Given the description of an element on the screen output the (x, y) to click on. 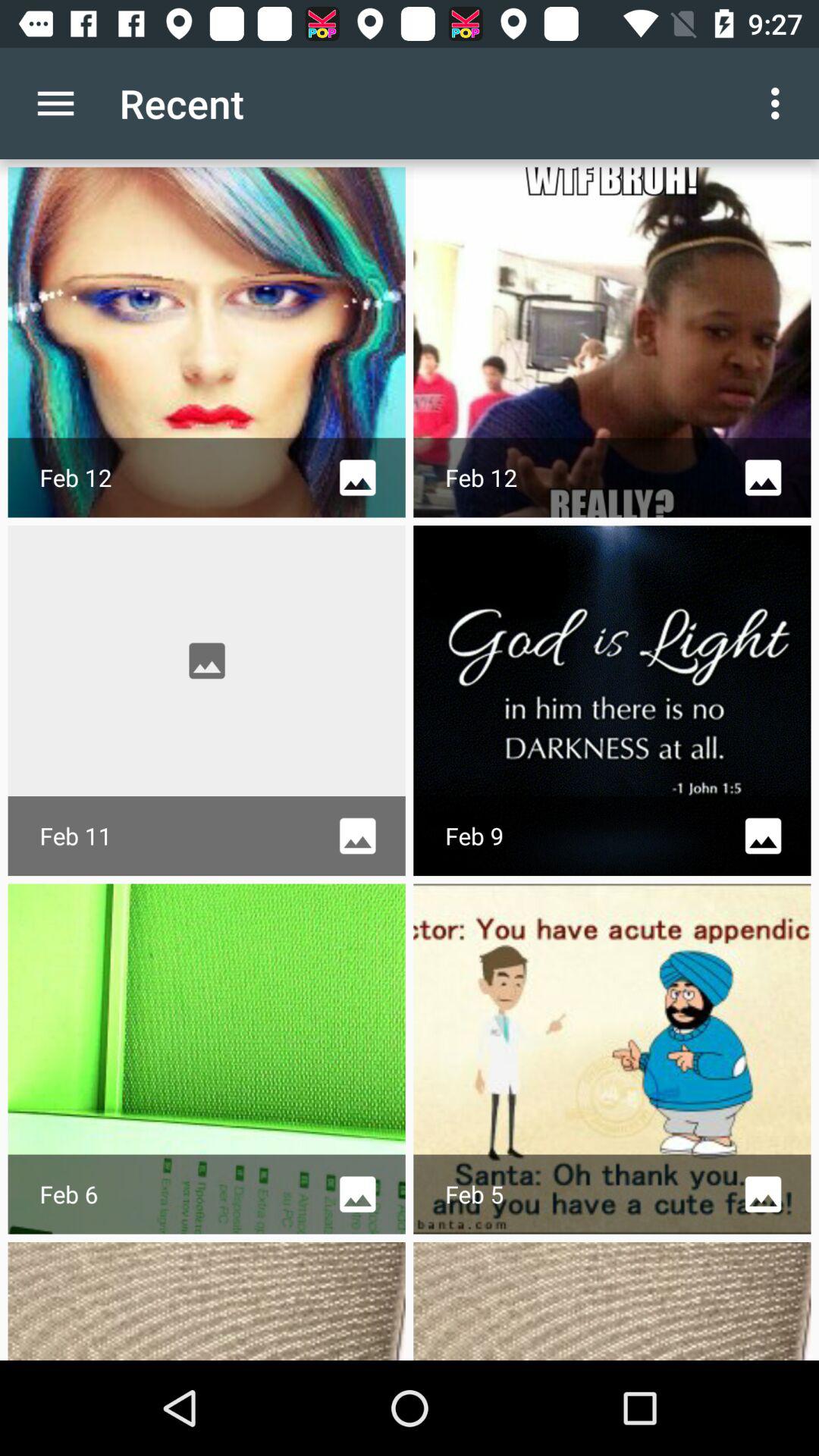
launch the app to the right of recent item (779, 103)
